Given the description of an element on the screen output the (x, y) to click on. 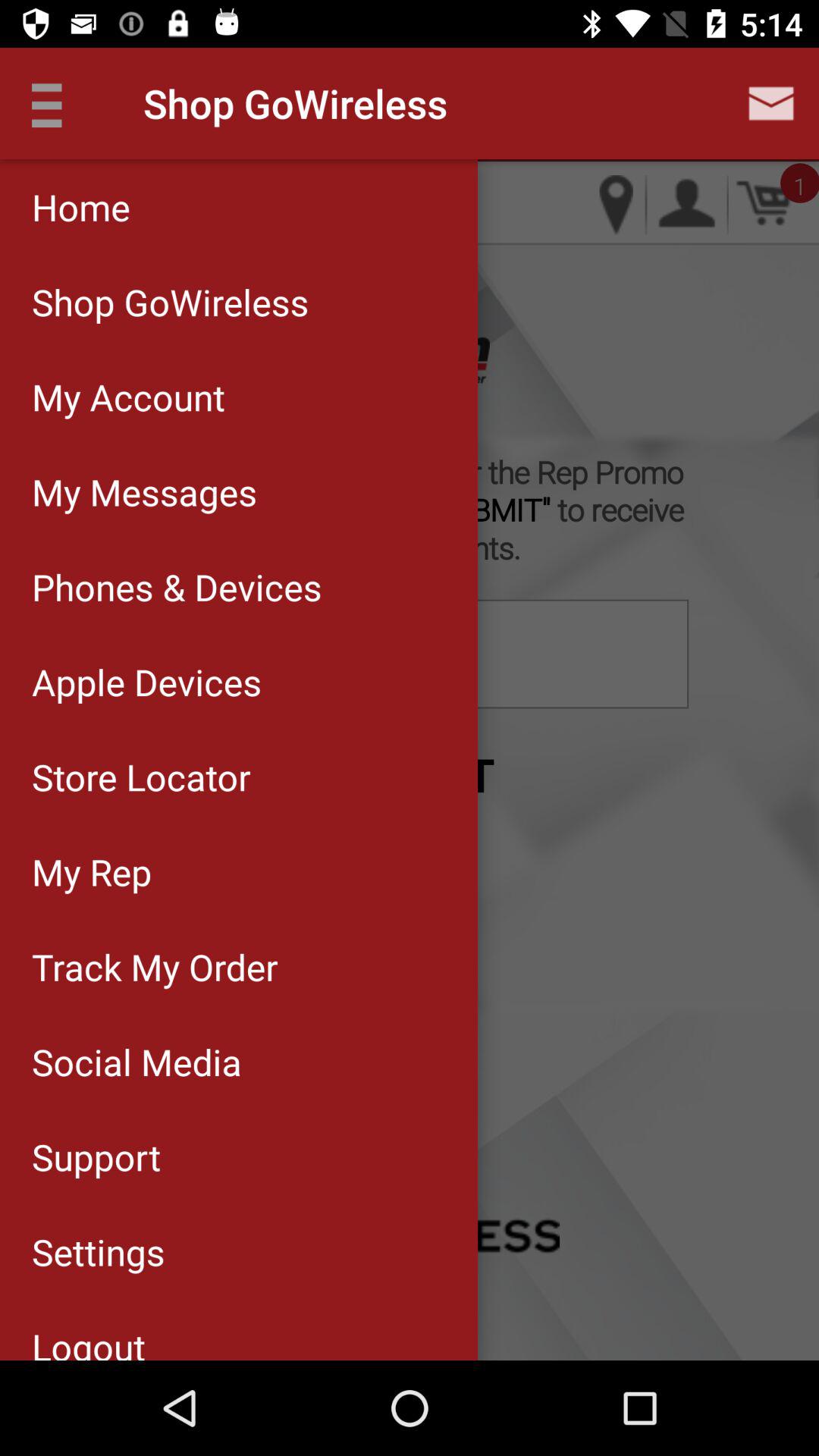
swipe to home (238, 206)
